Given the description of an element on the screen output the (x, y) to click on. 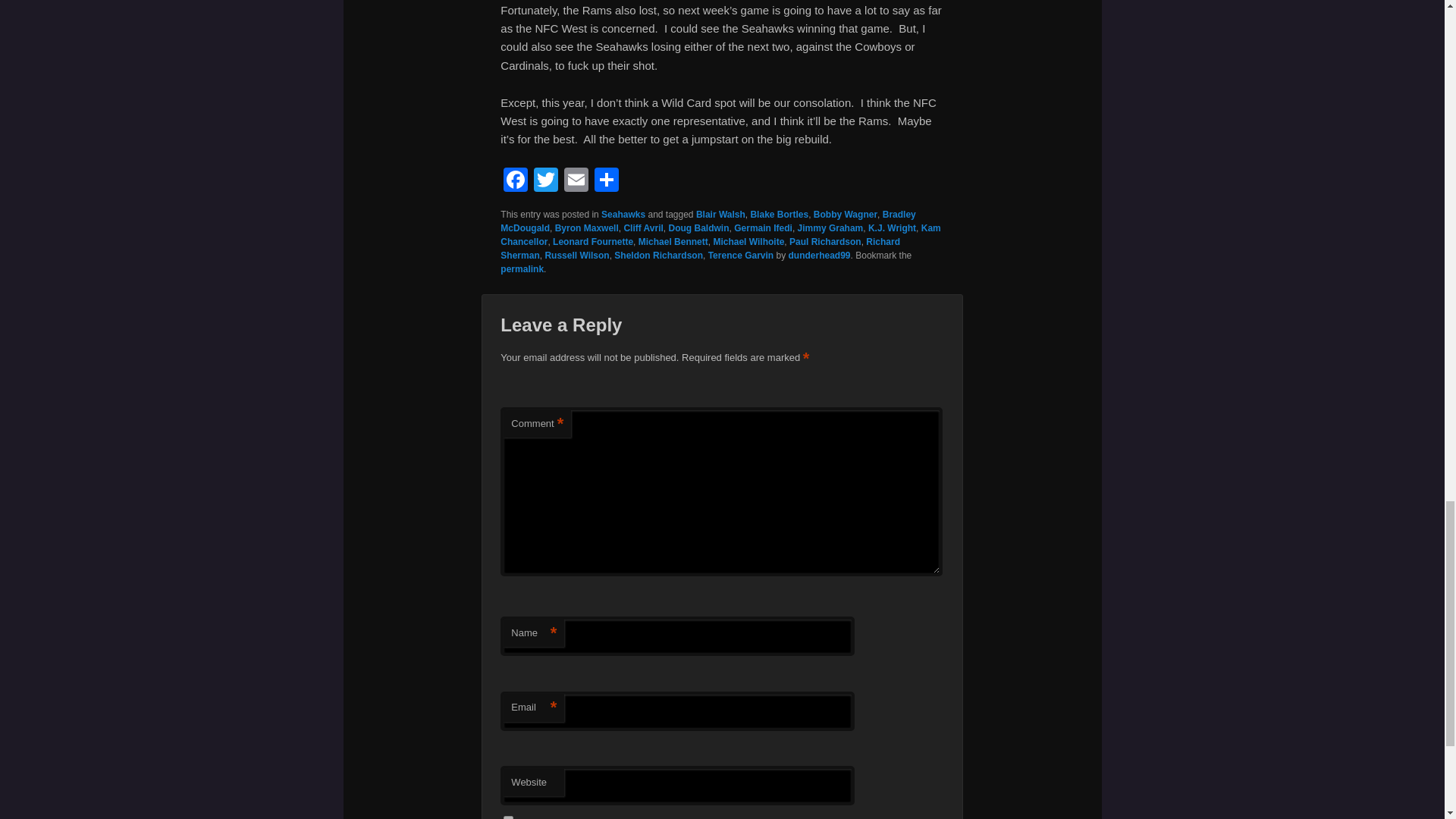
Permalink to The Seahawks Are Never Not Gonna Be Injured (521, 268)
subscribe (508, 817)
Facebook (515, 181)
Twitter (545, 181)
Email (575, 181)
